Given the description of an element on the screen output the (x, y) to click on. 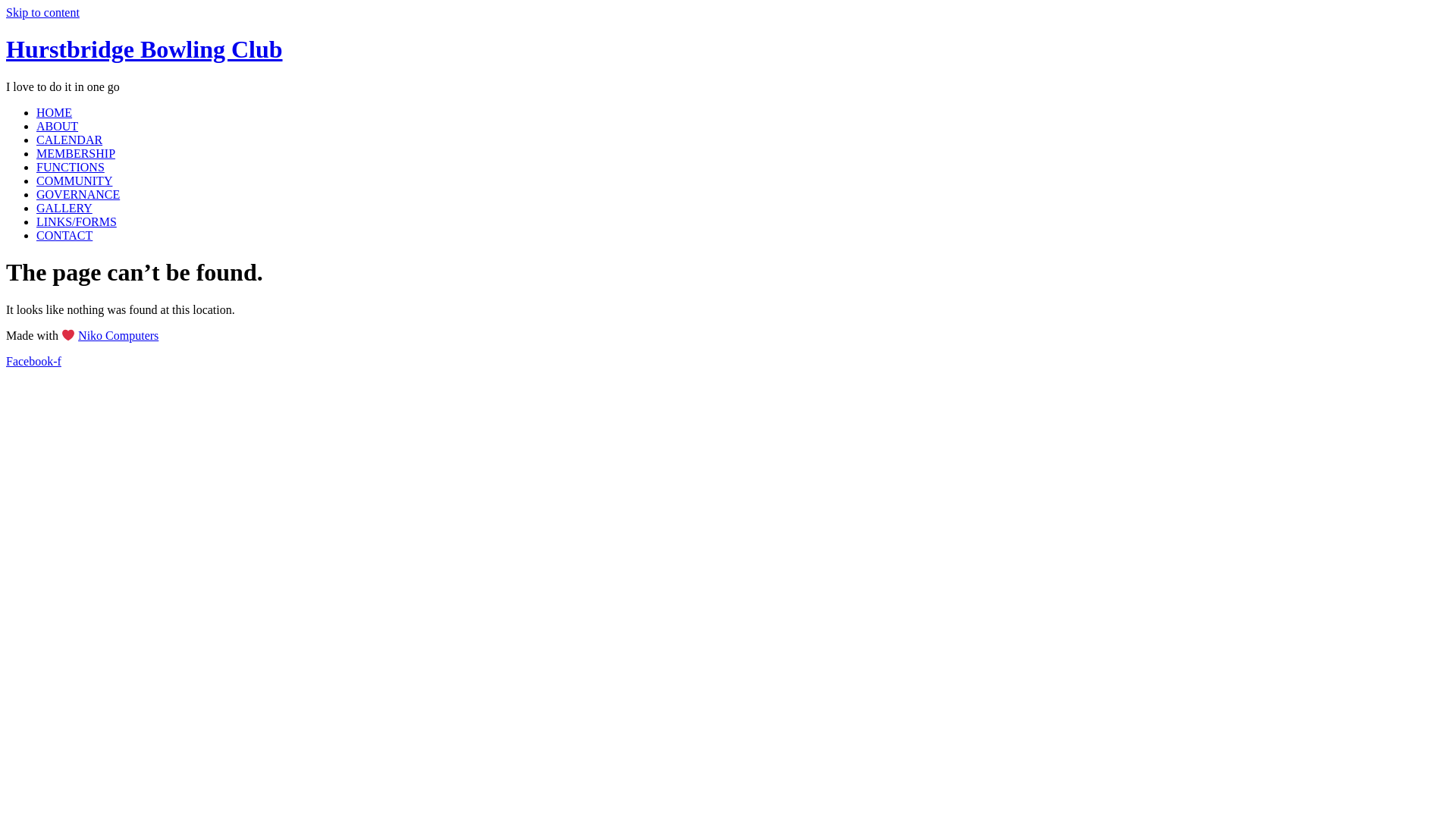
CALENDAR Element type: text (69, 139)
FUNCTIONS Element type: text (70, 166)
CONTACT Element type: text (64, 235)
LINKS/FORMS Element type: text (76, 221)
Niko Computers Element type: text (118, 335)
Hurstbridge Bowling Club Element type: text (144, 48)
COMMUNITY Element type: text (74, 180)
GOVERNANCE Element type: text (77, 194)
Skip to content Element type: text (42, 12)
ABOUT Element type: text (57, 125)
MEMBERSHIP Element type: text (75, 153)
HOME Element type: text (54, 112)
Facebook-f Element type: text (33, 360)
GALLERY Element type: text (64, 207)
